Given the description of an element on the screen output the (x, y) to click on. 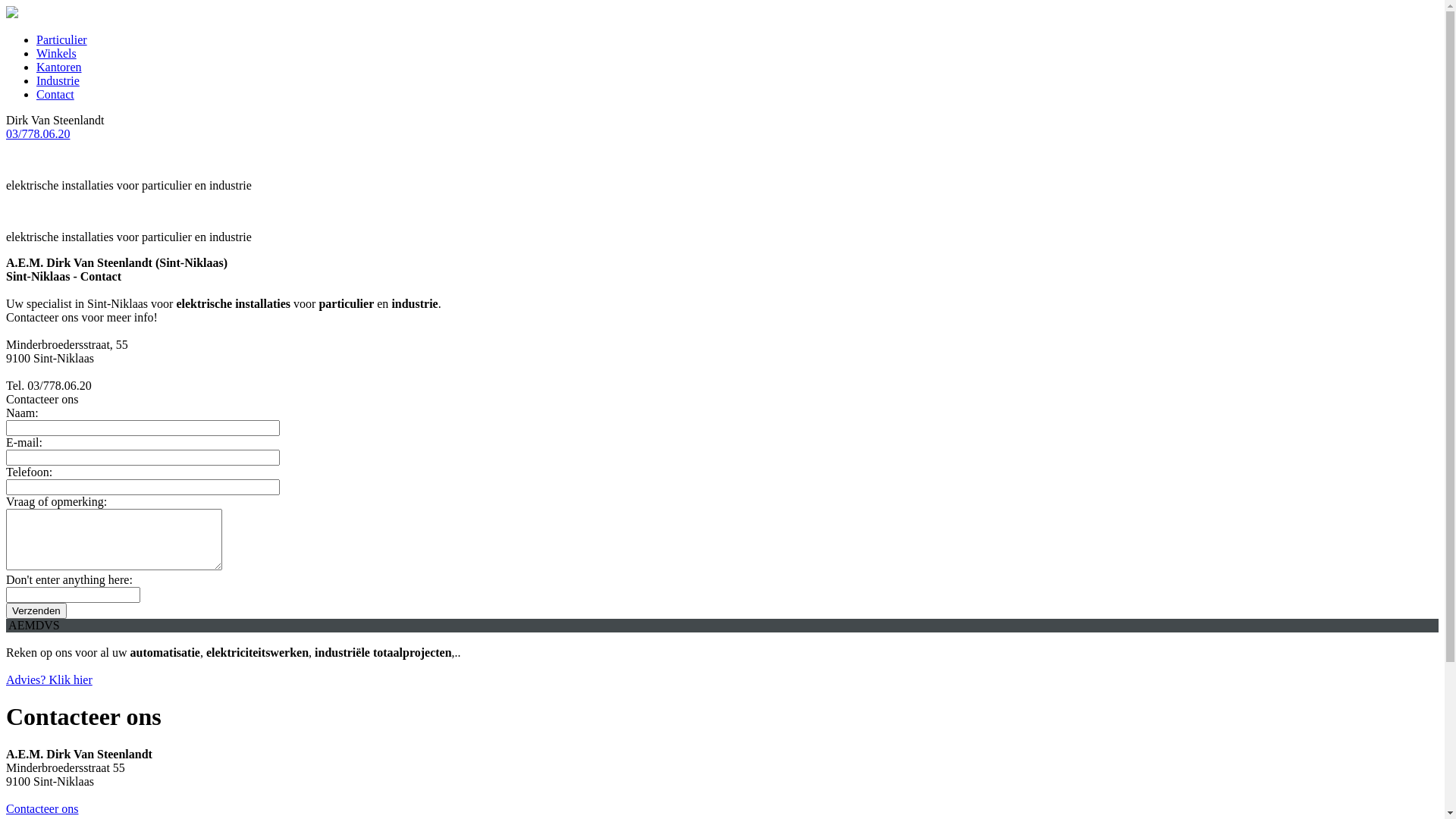
Contacteer ons Element type: text (42, 808)
Verzenden Element type: text (36, 610)
Winkels Element type: text (56, 53)
Industrie Element type: text (57, 80)
Kantoren Element type: text (58, 66)
Advies? Klik hier Element type: text (49, 679)
Particulier Element type: text (61, 39)
Contact Element type: text (55, 93)
03/778.06.20 Element type: text (37, 133)
